Given the description of an element on the screen output the (x, y) to click on. 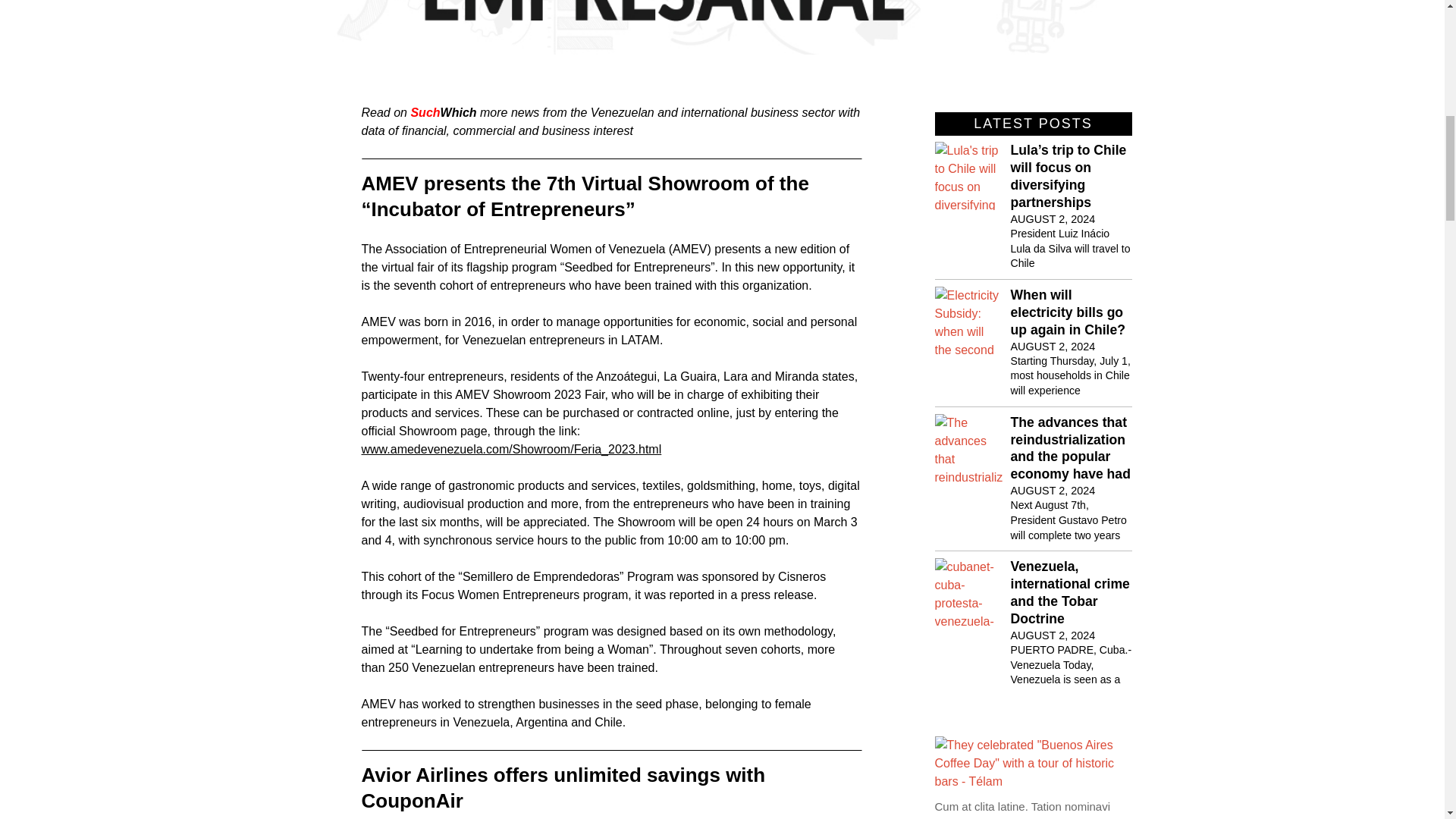
02 Aug, 2024 11:57:19 (1052, 345)
02 Aug, 2024 11:59:20 (1052, 218)
Know all the important information of the business world (1396, 22)
02 Aug, 2024 11:23:18 (722, 27)
